Given the description of an element on the screen output the (x, y) to click on. 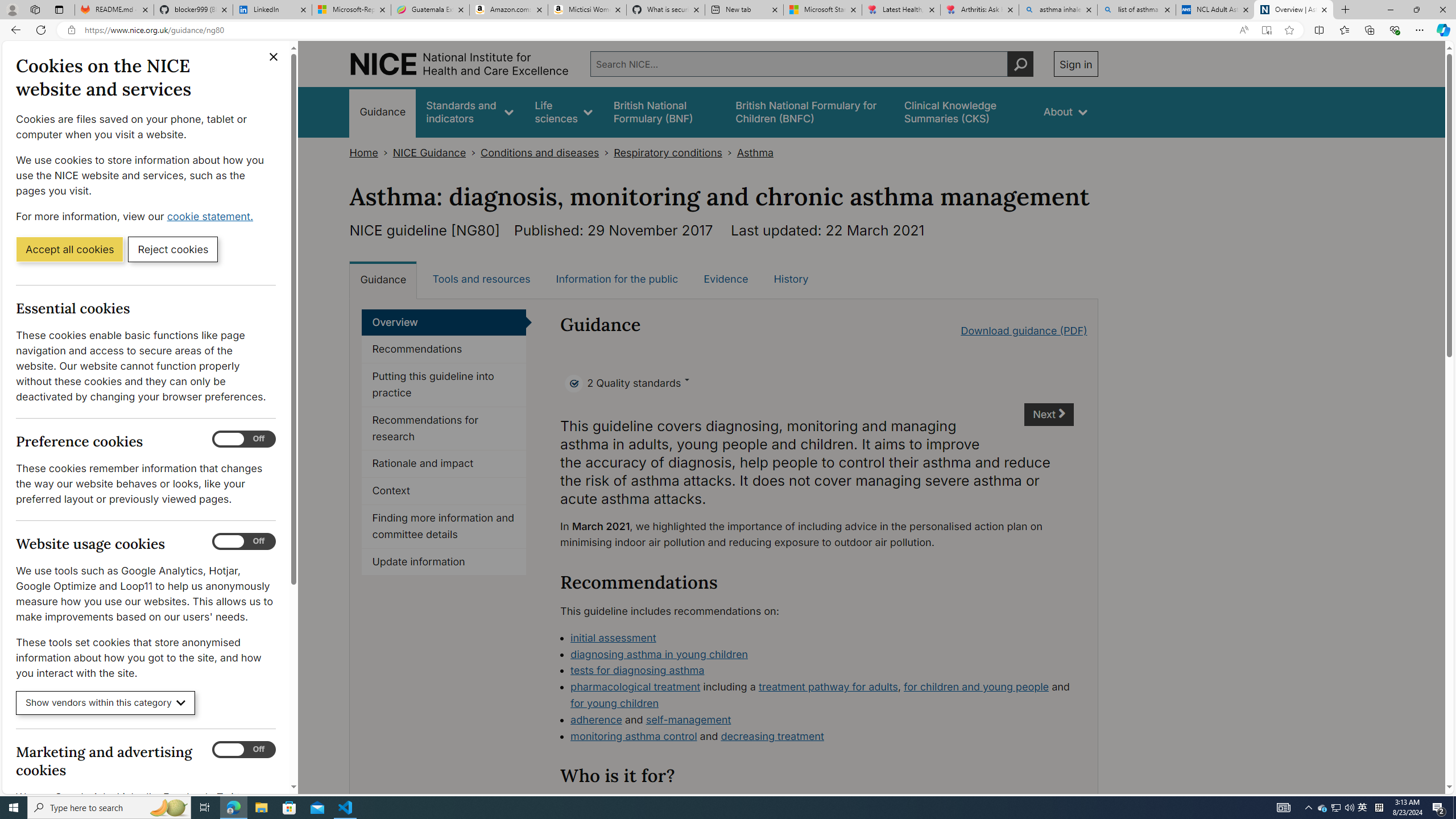
NCL Adult Asthma Inhaler Choice Guideline (1214, 9)
self-management (687, 719)
Life sciences (563, 111)
diagnosing asthma in young children (659, 653)
Context (443, 491)
adherence and self-management (822, 719)
Overview (443, 321)
Arthritis: Ask Health Professionals (979, 9)
